Given the description of an element on the screen output the (x, y) to click on. 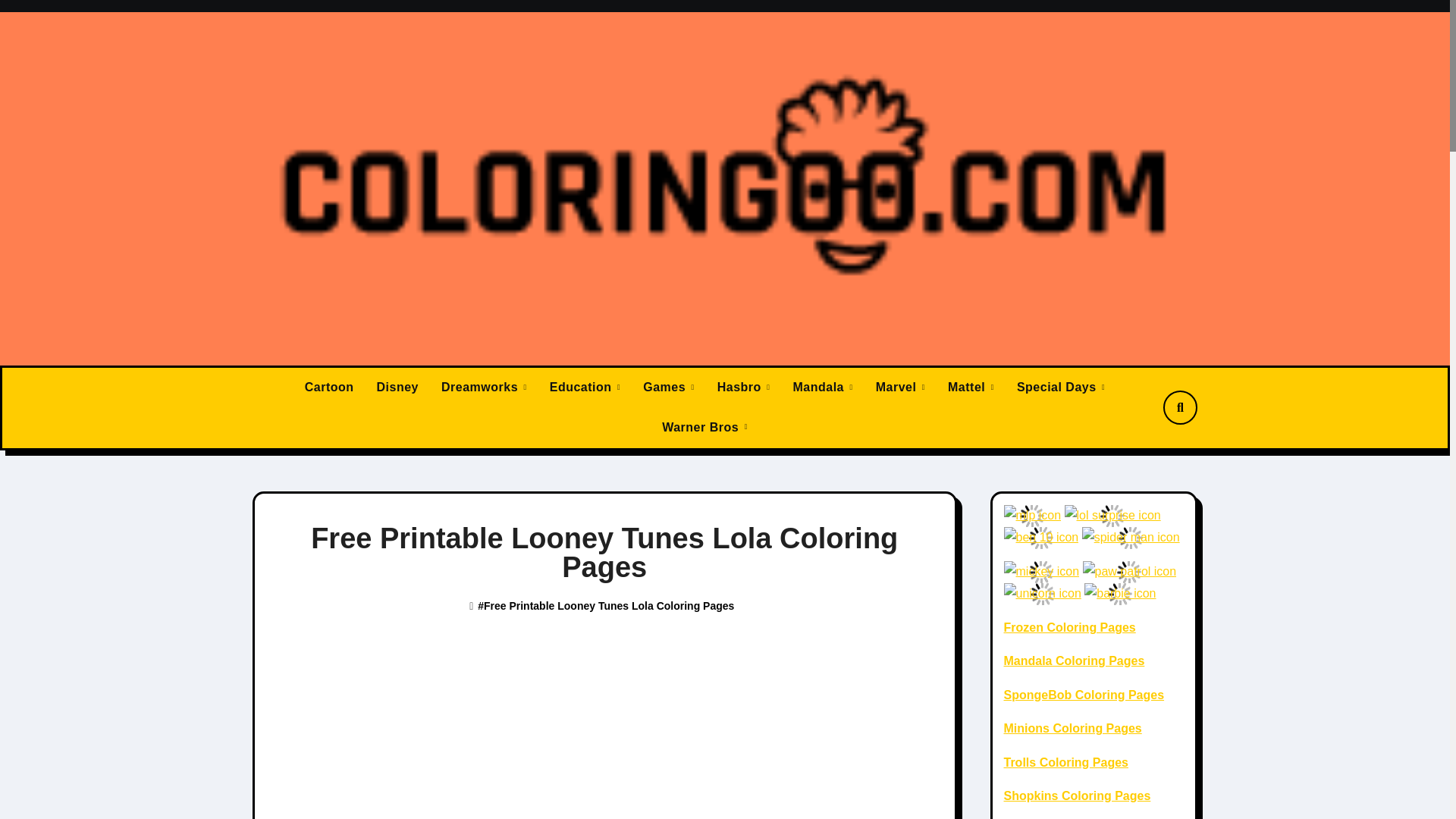
Disney (397, 387)
Dreamworks (483, 387)
Education (584, 387)
Dreamworks (483, 387)
Games (668, 387)
Cartoon (329, 387)
Education (584, 387)
Disney (397, 387)
Cartoon (329, 387)
